Given the description of an element on the screen output the (x, y) to click on. 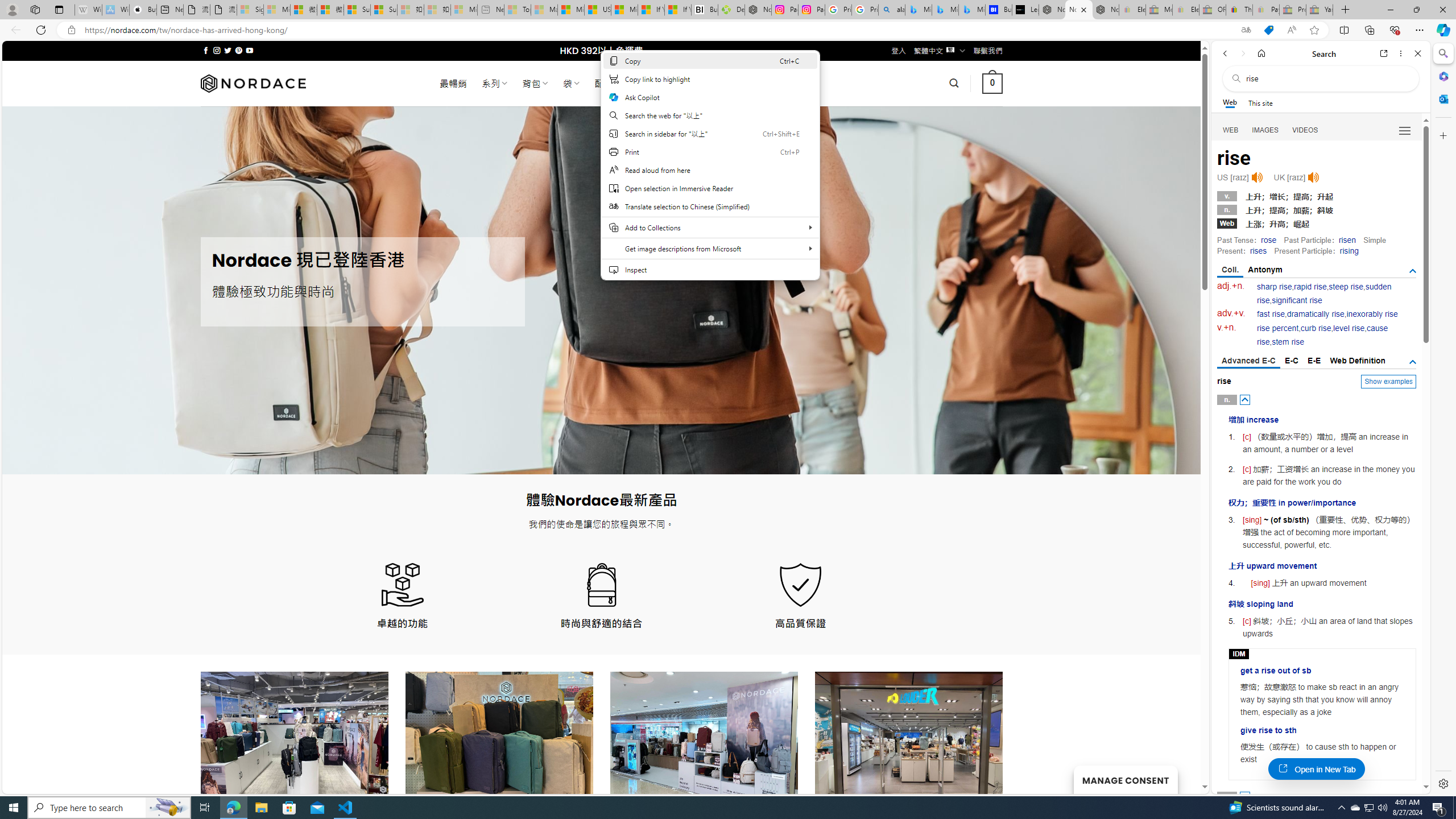
Copy link to highlight (710, 78)
dramatically rise (1315, 313)
Click to listen (1313, 177)
Get image descriptions from Microsoft (710, 248)
Follow on Instagram (216, 50)
Sign in to your Microsoft account - Sleeping (249, 9)
US Heat Deaths Soared To Record High Last Year (597, 9)
Follow on Twitter (227, 50)
